Given the description of an element on the screen output the (x, y) to click on. 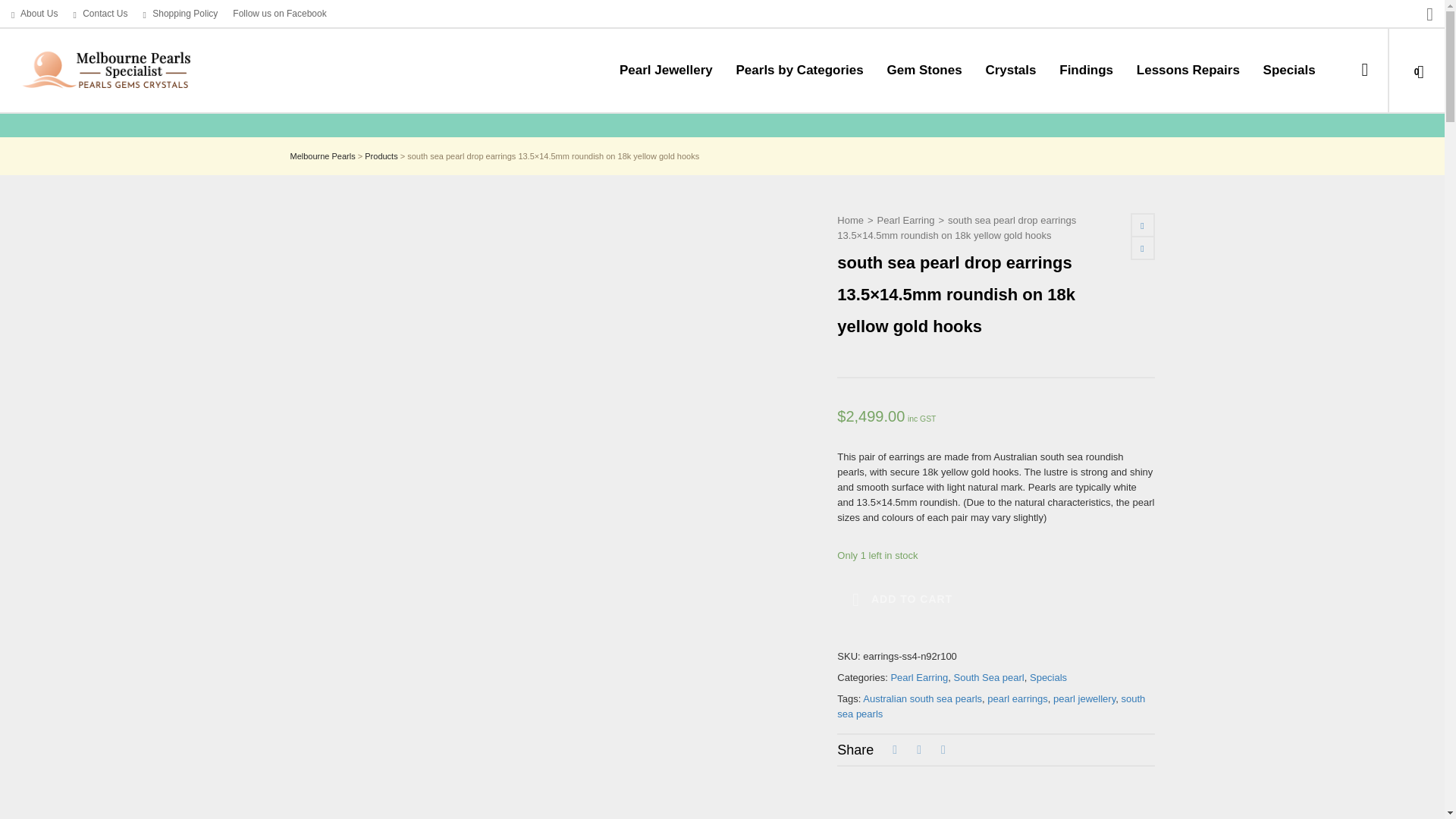
Go to Products. (381, 155)
Go to Melbourne Pearls. (322, 155)
